Given the description of an element on the screen output the (x, y) to click on. 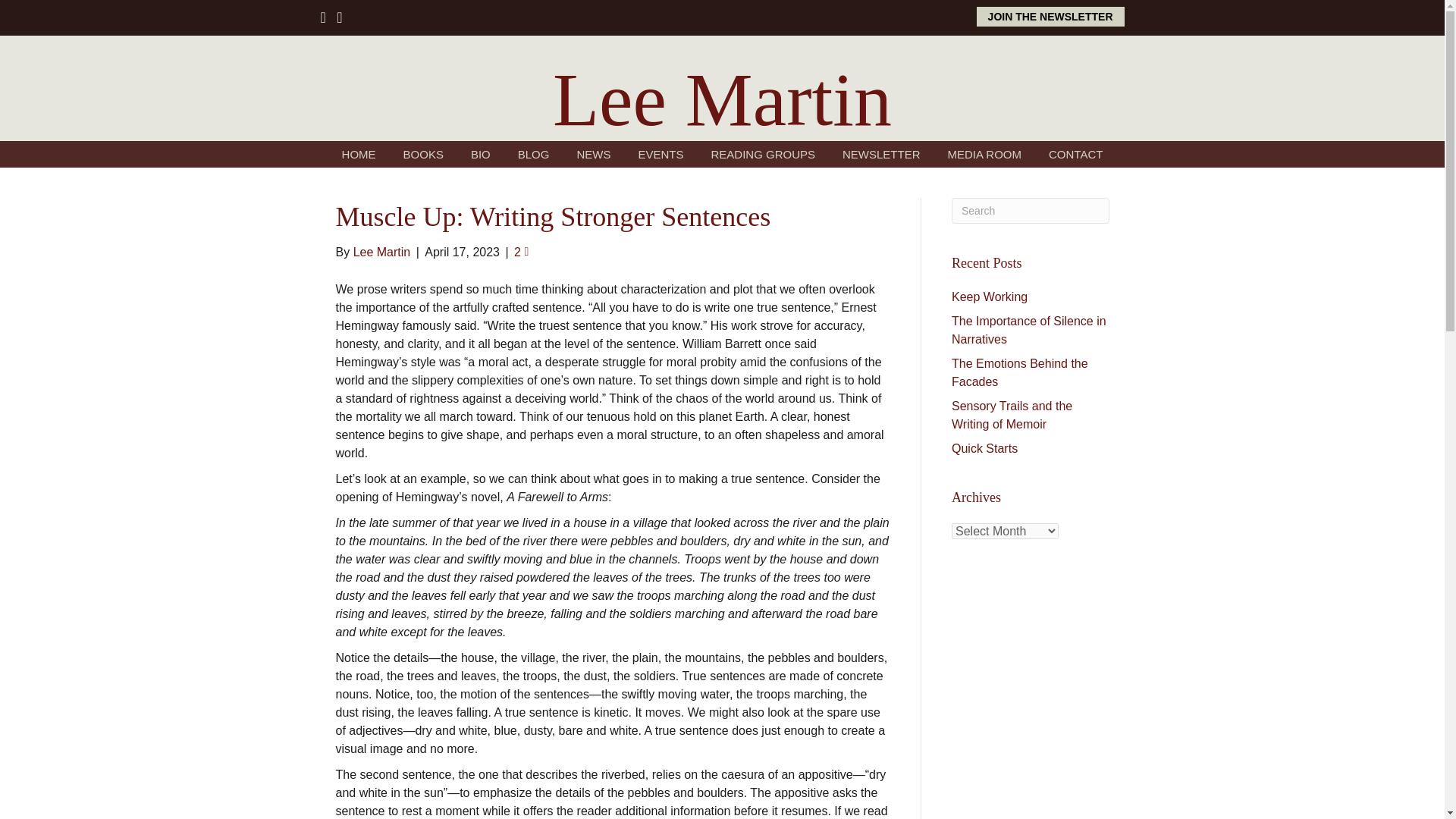
Type and press Enter to search. (1030, 210)
BOOKS (423, 153)
Lee Martin (722, 99)
HOME (359, 153)
MEDIA ROOM (984, 153)
NEWS (593, 153)
The Importance of Silence in Narratives (1029, 329)
The Emotions Behind the Facades (1019, 372)
EVENTS (660, 153)
BIO (480, 153)
